Given the description of an element on the screen output the (x, y) to click on. 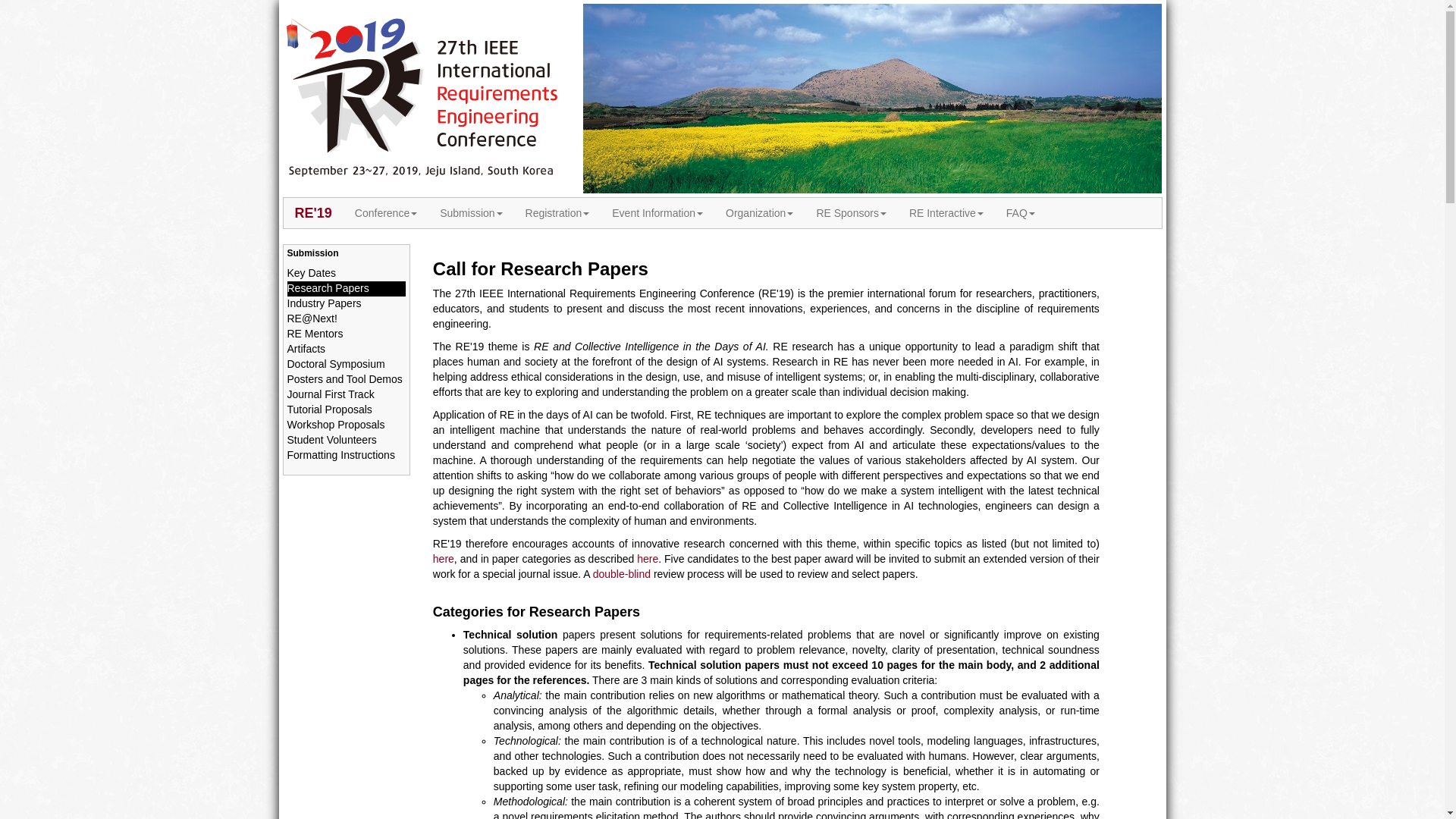
Organization (759, 213)
Conference (385, 213)
RE'19 (313, 213)
Registration (557, 213)
Submission (470, 213)
Event Information (656, 213)
